Given the description of an element on the screen output the (x, y) to click on. 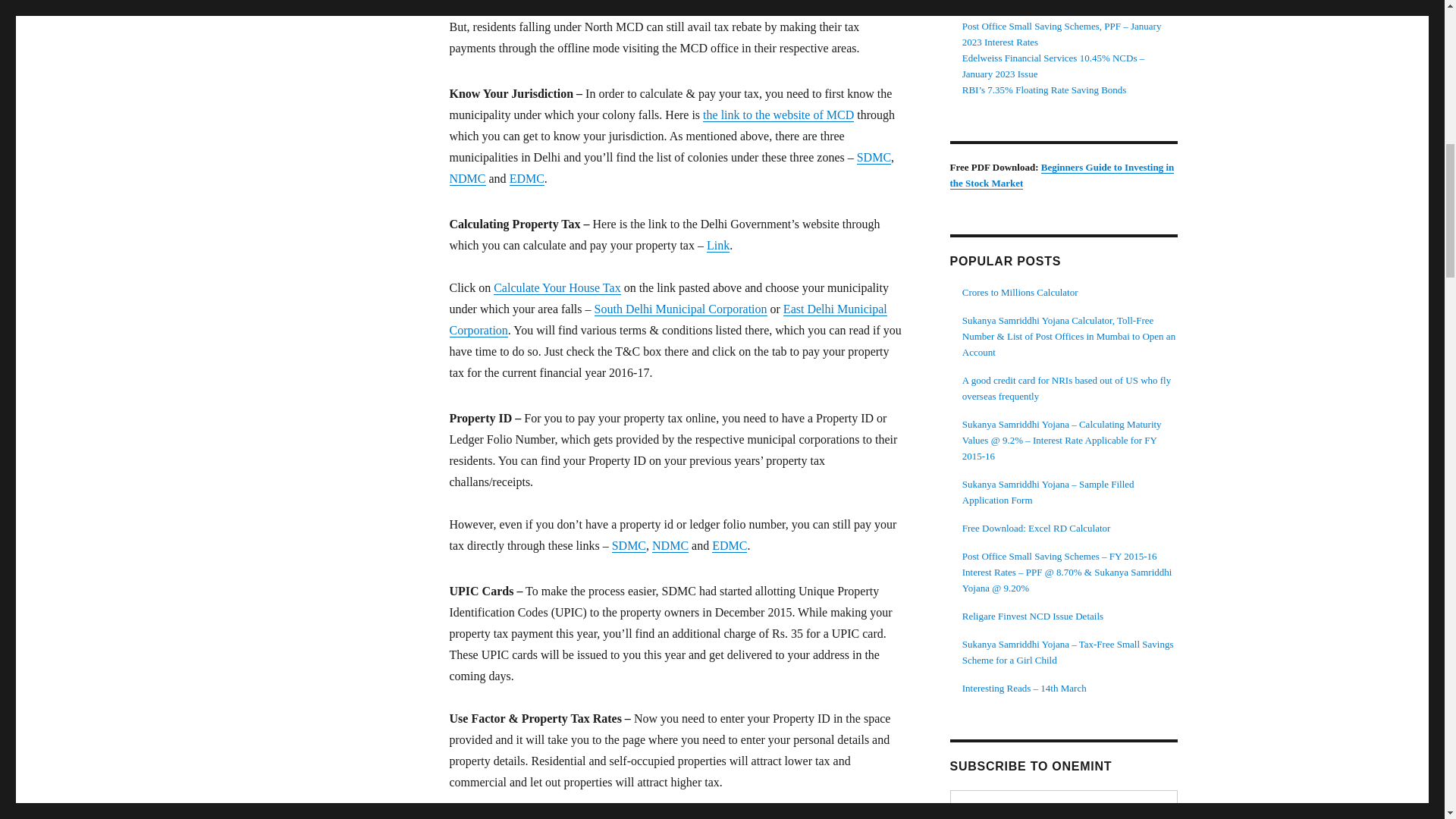
SDMC (874, 156)
South Delhi Municipal Corporation (680, 308)
Calculate Your House Tax (556, 287)
EDMC (526, 178)
EDMC (728, 545)
NDMC (466, 178)
SDMC (628, 545)
Link (717, 245)
the link to the website of MCD (778, 114)
East Delhi Municipal Corporation (667, 319)
